Given the description of an element on the screen output the (x, y) to click on. 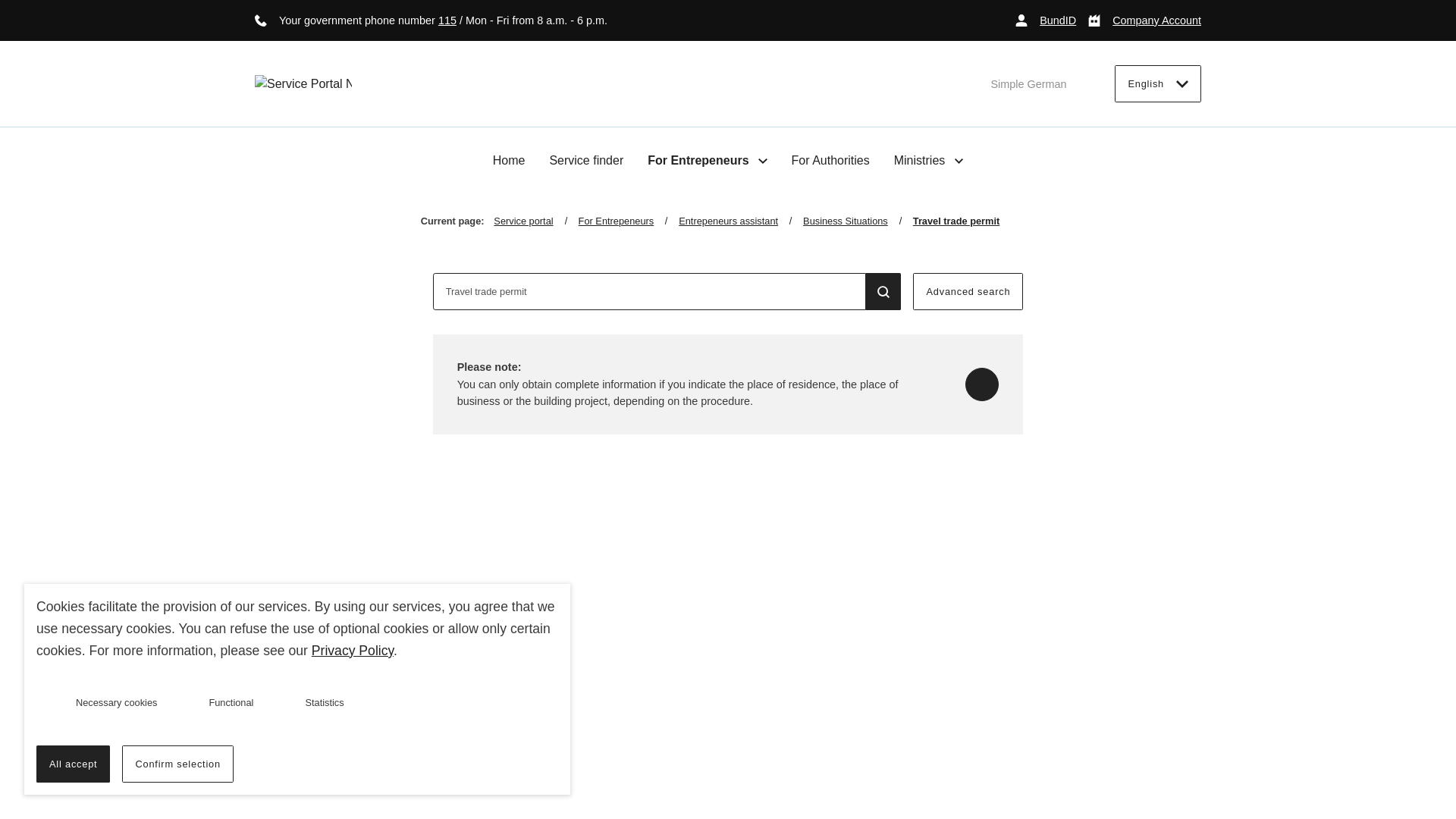
Travel trade permit (956, 221)
Travel trade permit (649, 291)
Home (509, 160)
Company Account (1144, 20)
Home (509, 160)
Entrepeneurs assistant (740, 221)
Service finder (585, 160)
Specify city or zip code (981, 384)
BundID (1044, 20)
Go to service portal home page (303, 84)
Ministries (928, 160)
Service portal (535, 221)
For Entrepeneurs (707, 160)
For Authorities (830, 160)
Service finder (585, 160)
